Given the description of an element on the screen output the (x, y) to click on. 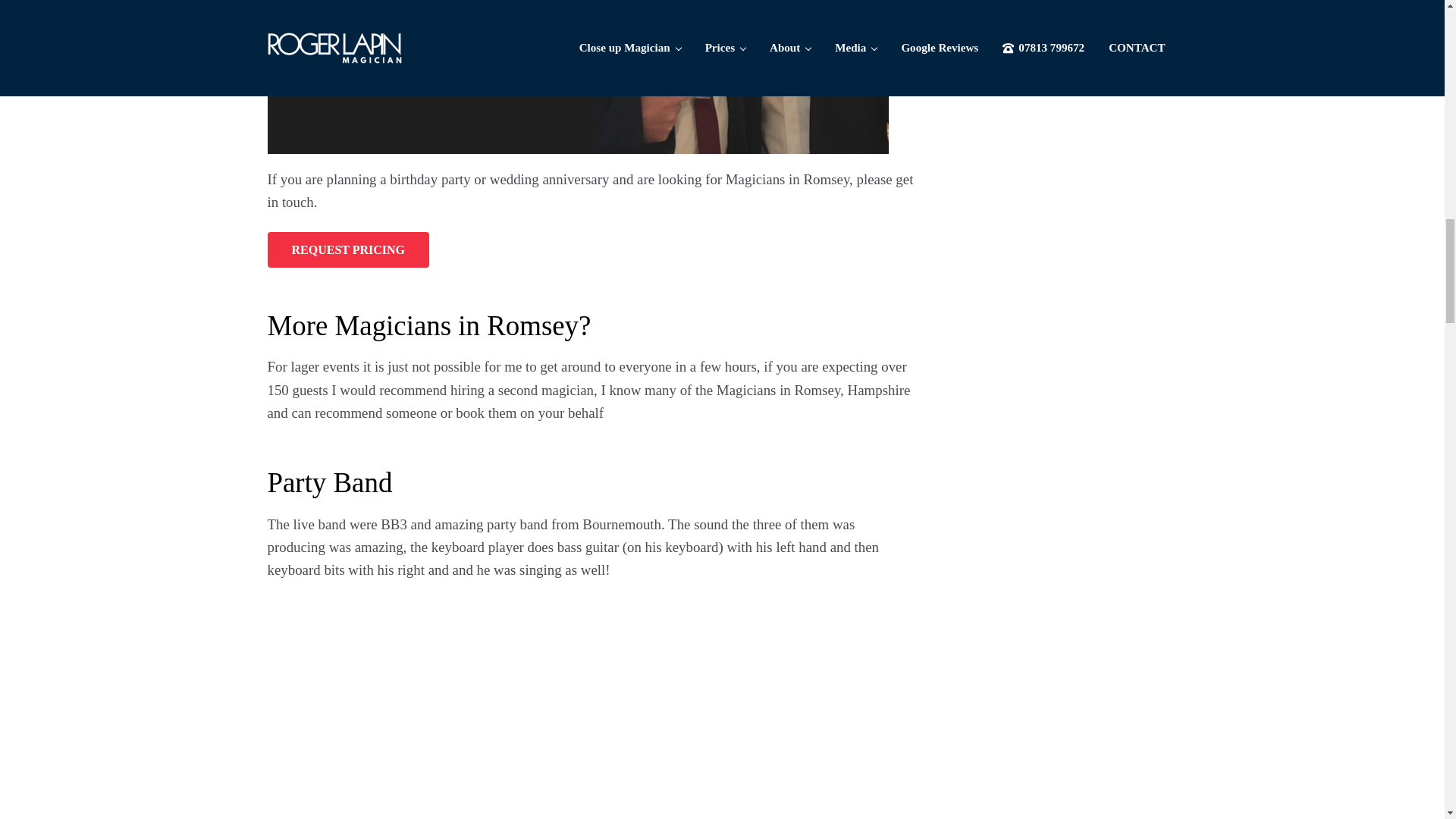
YouTube video player (478, 706)
